Given the description of an element on the screen output the (x, y) to click on. 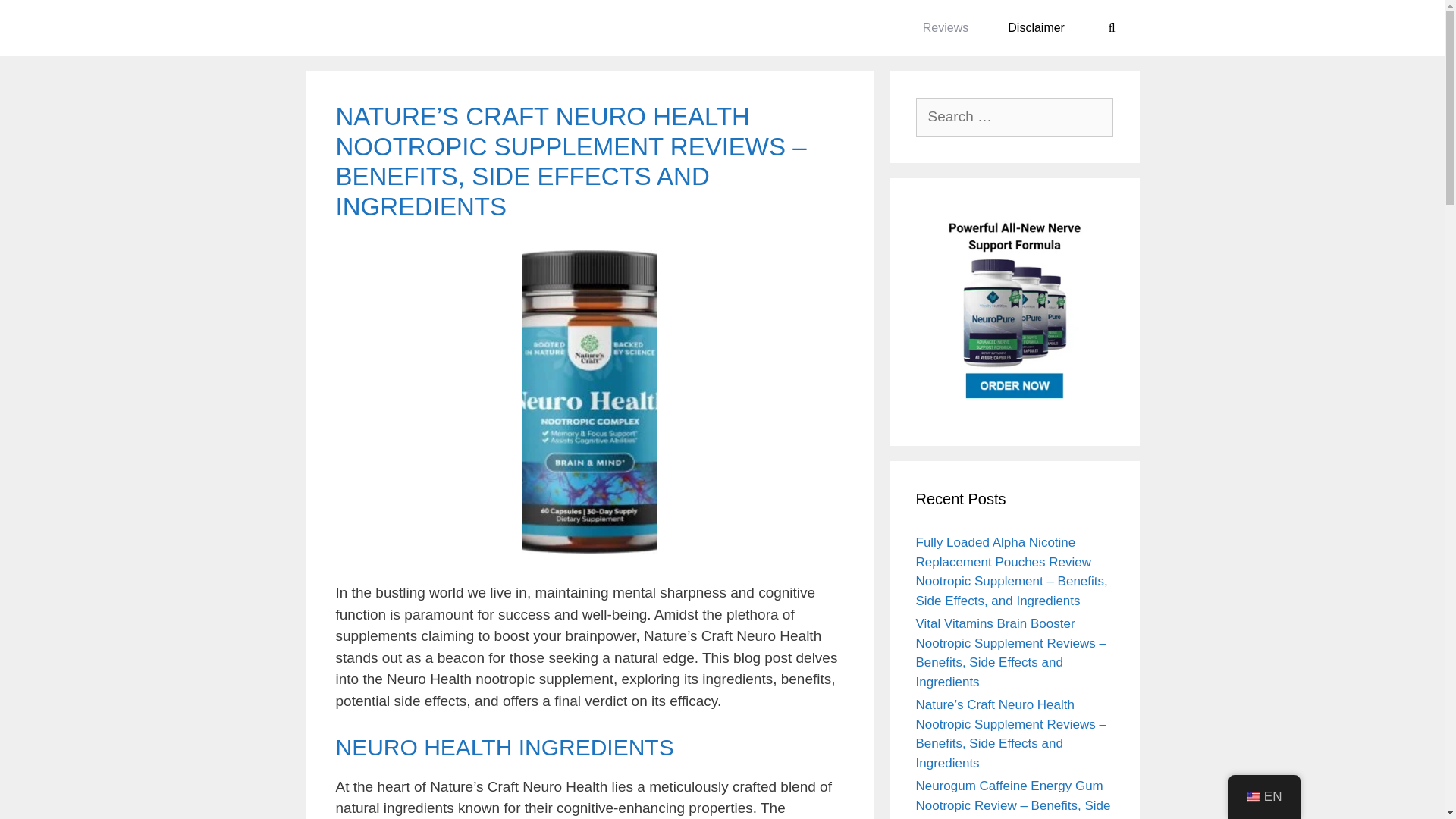
English (1253, 796)
Disclaimer (1036, 28)
Reviews (945, 28)
Search (38, 19)
Search for: (1014, 116)
